Given the description of an element on the screen output the (x, y) to click on. 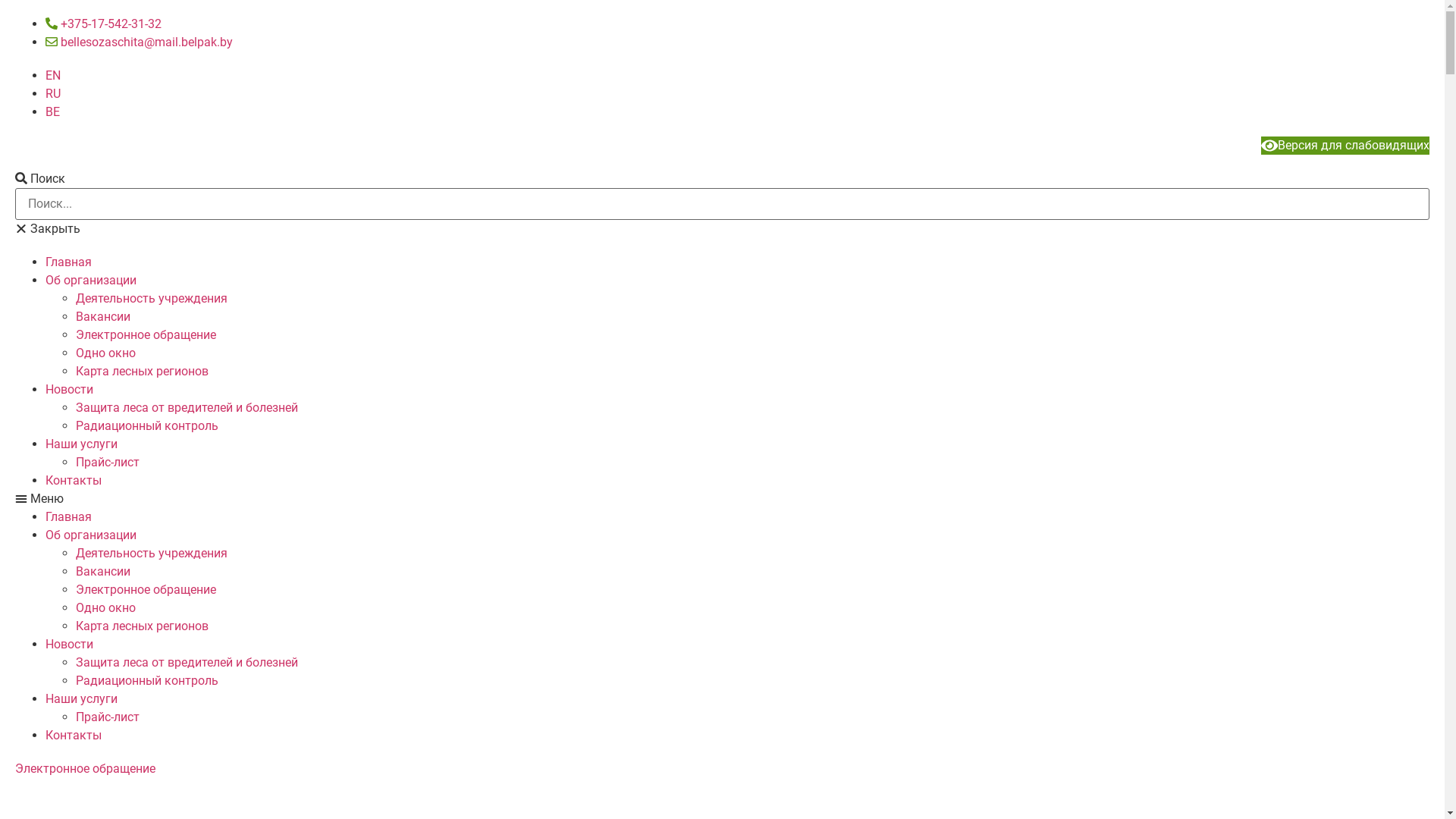
RU Element type: text (52, 93)
+375-17-542-31-32 Element type: text (103, 23)
bellesozaschita@mail.belpak.by Element type: text (138, 41)
BE Element type: text (52, 111)
EN Element type: text (52, 75)
